Given the description of an element on the screen output the (x, y) to click on. 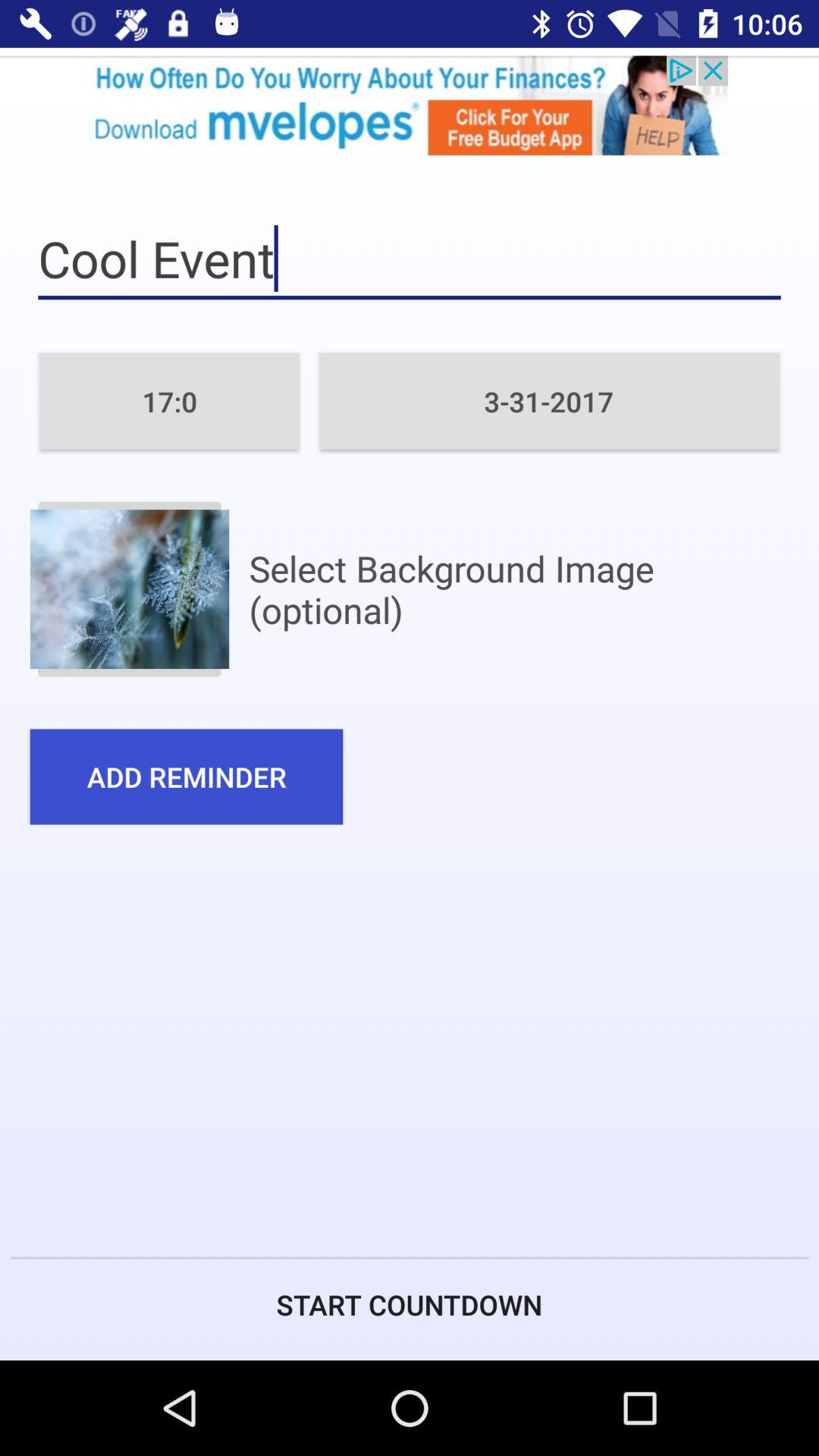
image page (129, 588)
